Given the description of an element on the screen output the (x, y) to click on. 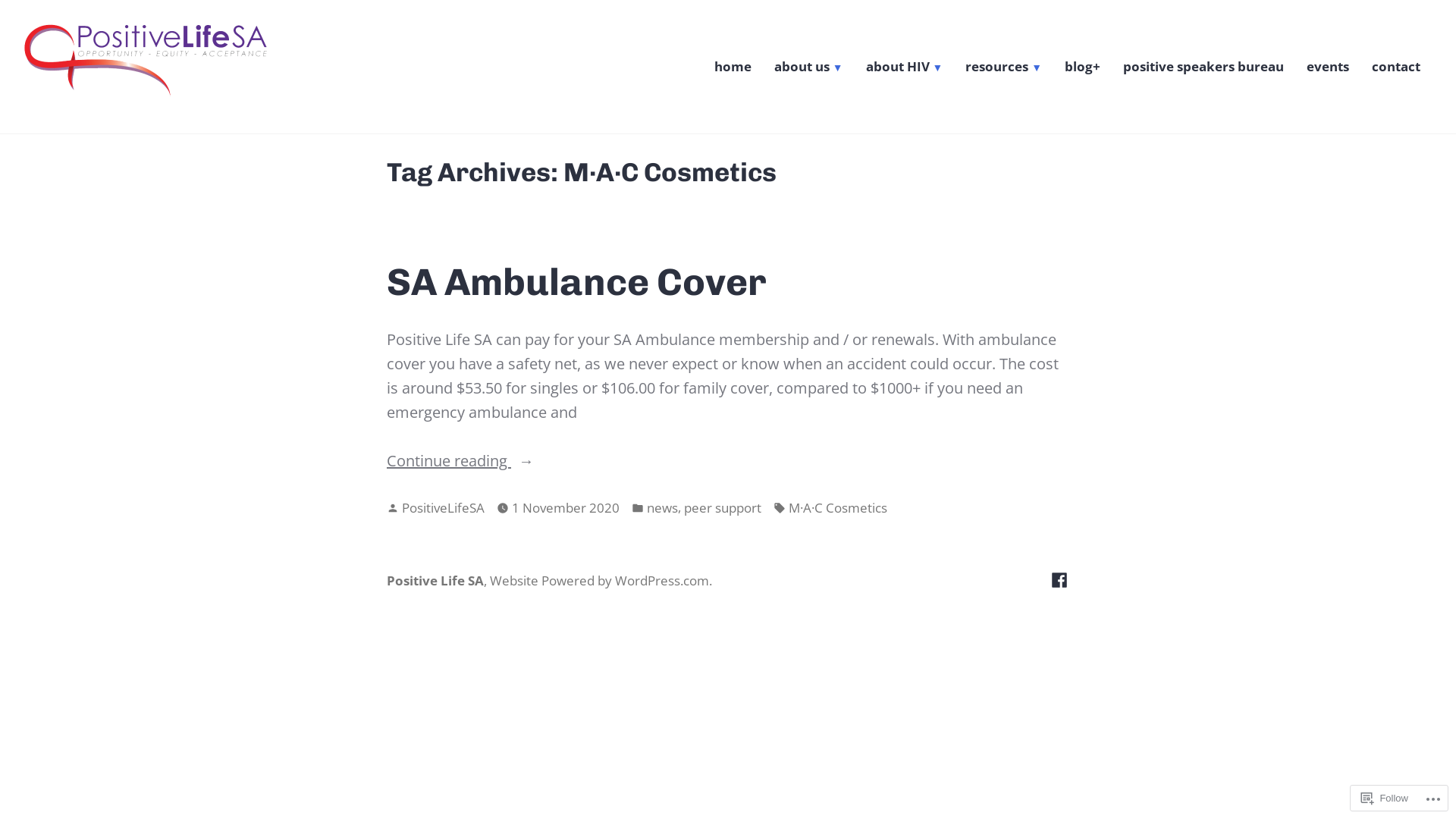
blog+ Element type: text (1082, 68)
Website Powered by WordPress.com Element type: text (599, 580)
PositiveLifeSA Element type: text (442, 507)
about us Element type: text (808, 68)
contact Element type: text (1395, 68)
1 November 2020 Element type: text (565, 508)
about HIV Element type: text (904, 68)
SA Ambulance Cover Element type: text (576, 281)
Follow Element type: text (1384, 797)
positive speakers bureau Element type: text (1203, 68)
resources Element type: text (1003, 68)
news Element type: text (661, 508)
home Element type: text (732, 68)
peer support Element type: text (722, 508)
Continue reading Element type: text (727, 460)
Positive Life SA Element type: text (434, 580)
Positive Life SA Element type: text (105, 121)
events Element type: text (1327, 68)
